Given the description of an element on the screen output the (x, y) to click on. 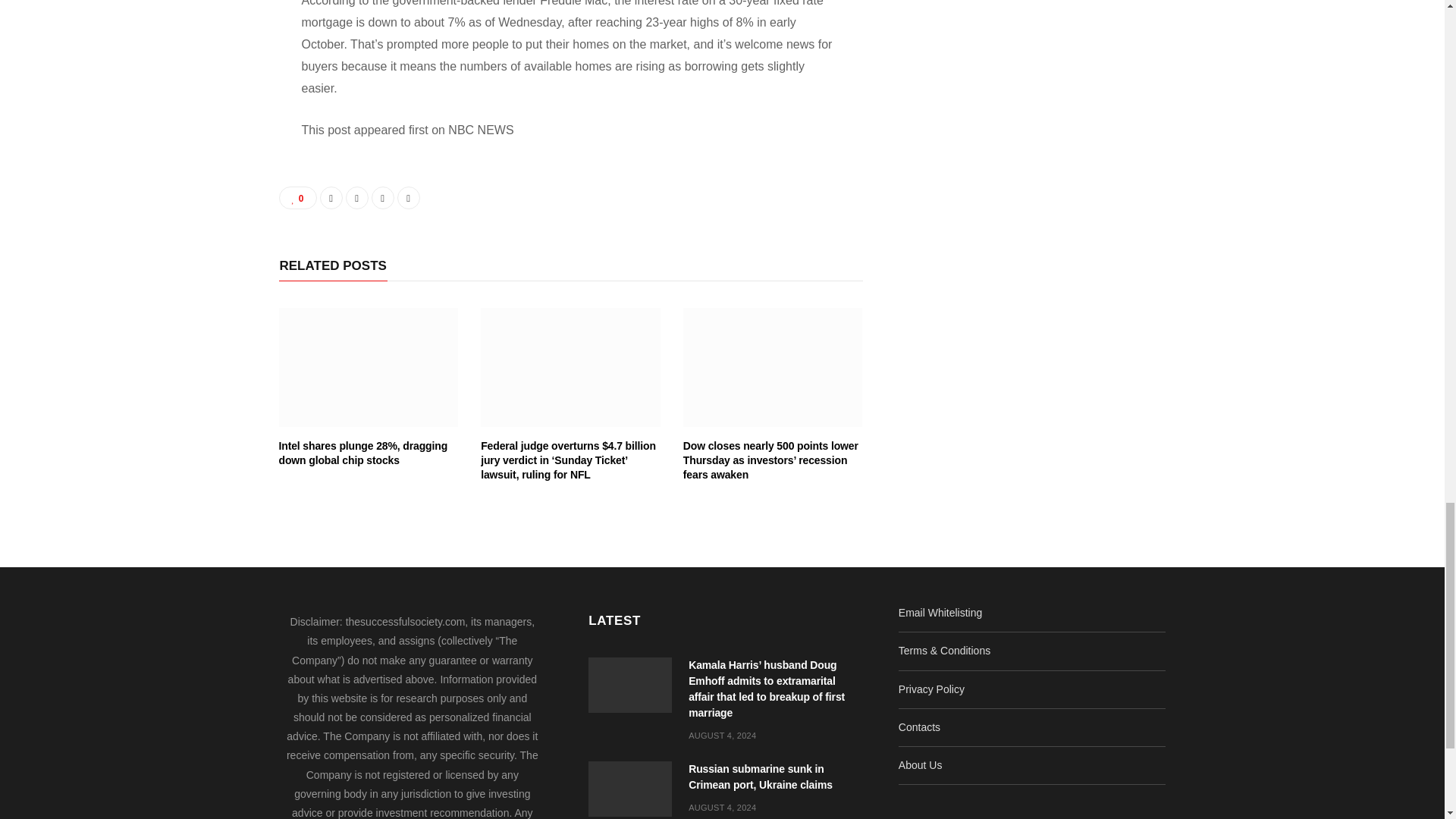
0 (298, 197)
